Given the description of an element on the screen output the (x, y) to click on. 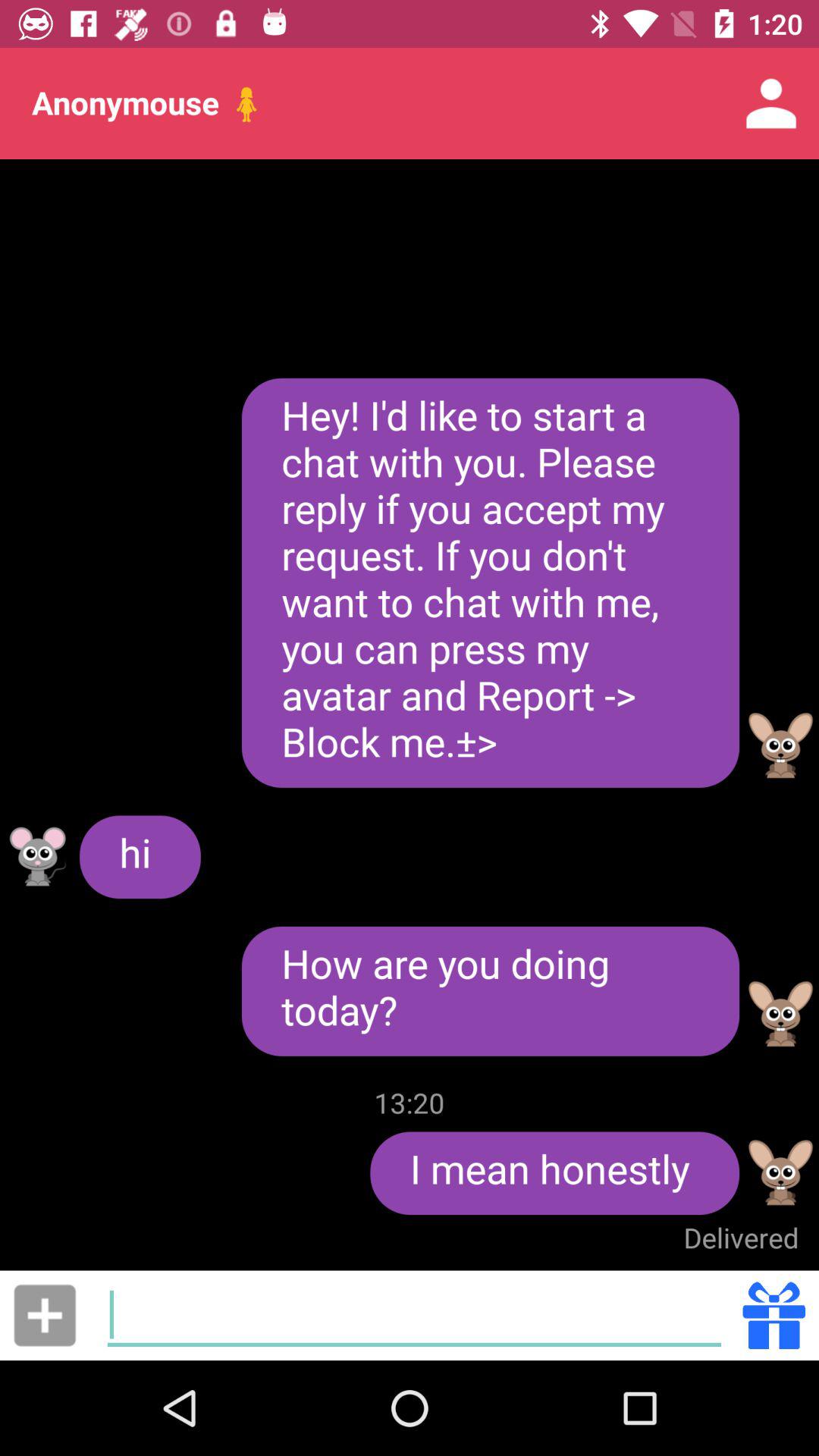
select the item below 13:20 item (554, 1172)
